Given the description of an element on the screen output the (x, y) to click on. 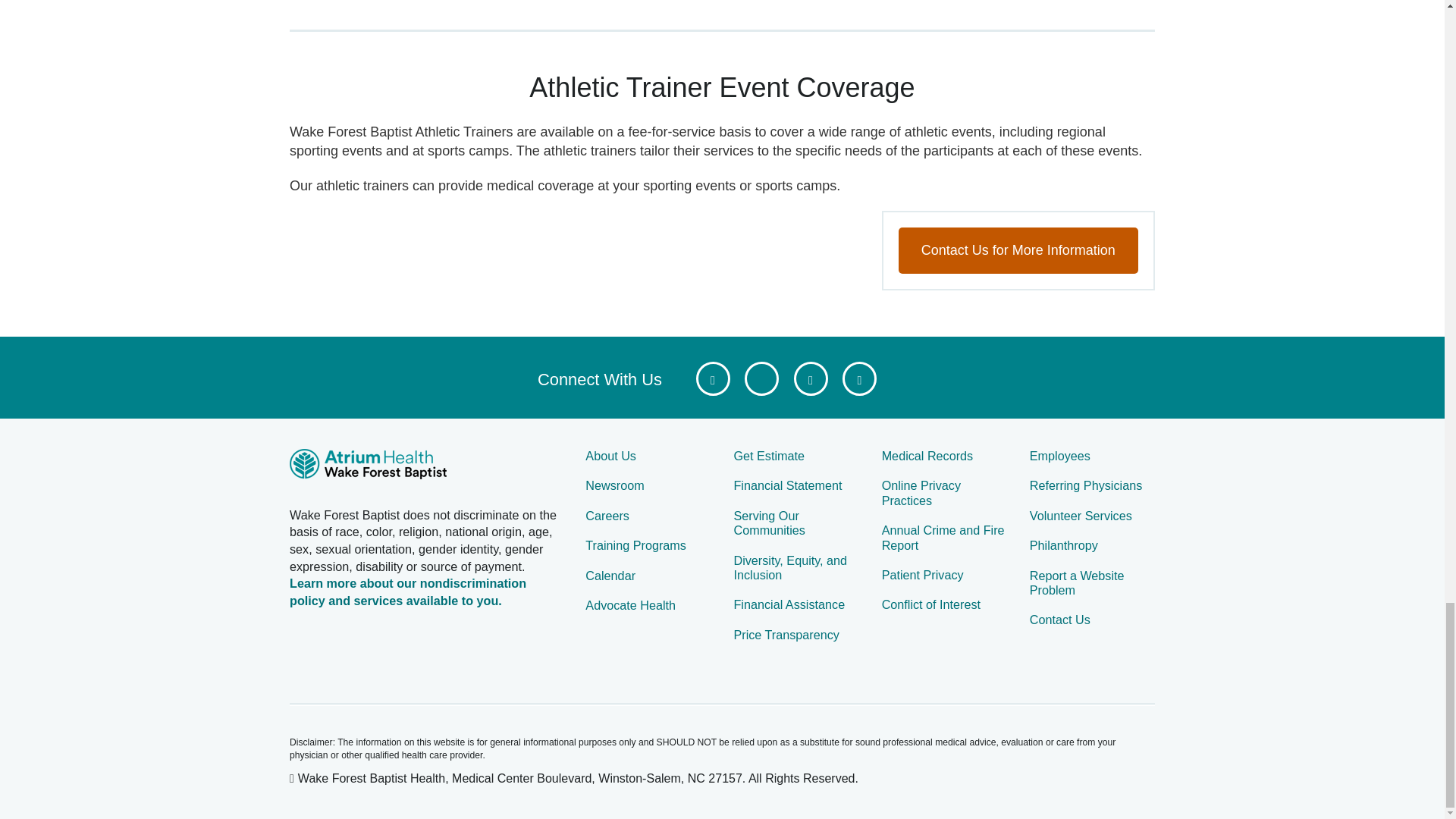
YouTube (810, 378)
Instagram (859, 378)
twitter (761, 378)
facebook (712, 378)
Atrium Health Wake Forest Baptist (425, 466)
Contact Us for More Information (1018, 250)
